Given the description of an element on the screen output the (x, y) to click on. 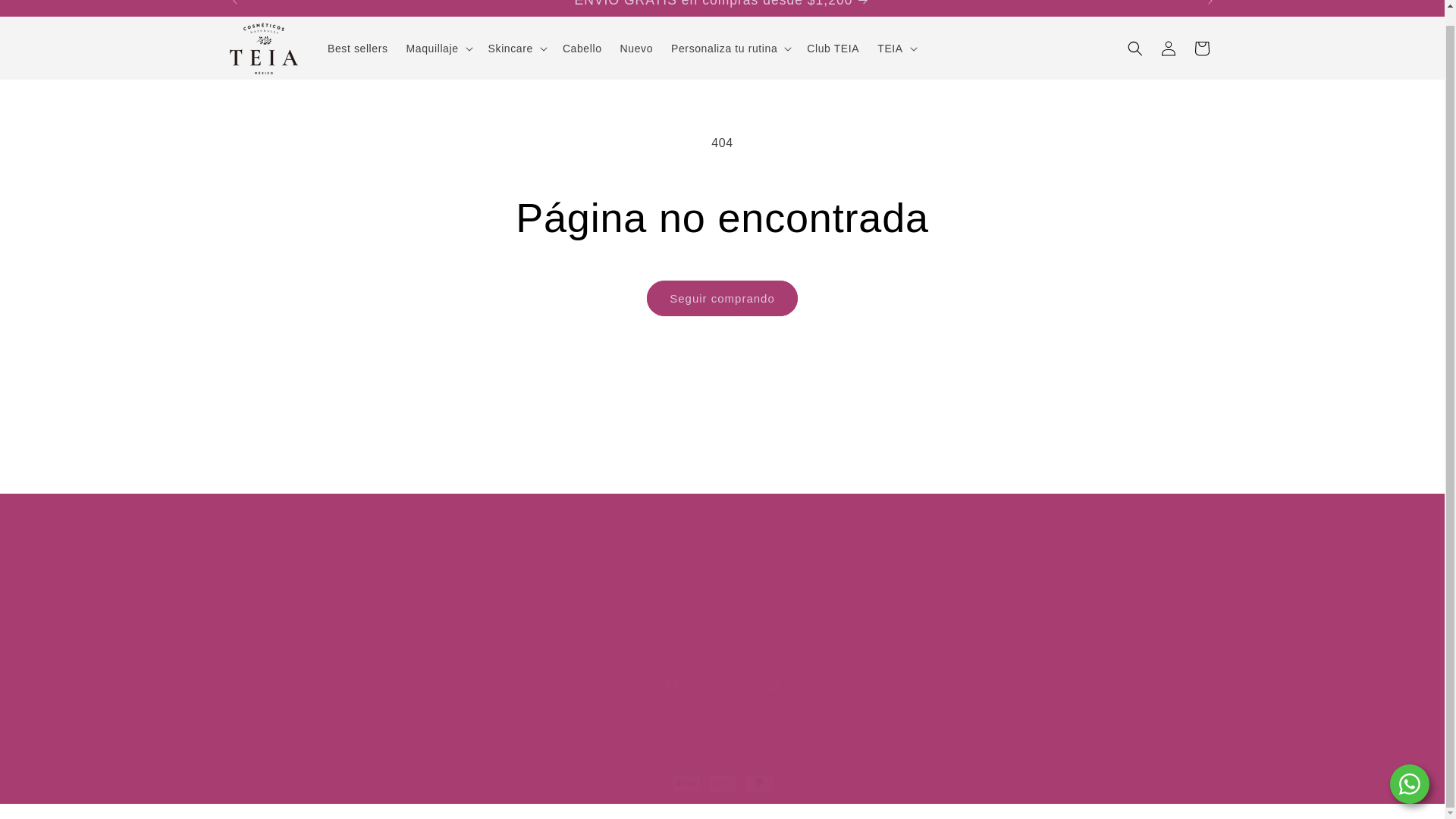
Ir directamente al contenido (45, 9)
Best sellers (721, 684)
